Given the description of an element on the screen output the (x, y) to click on. 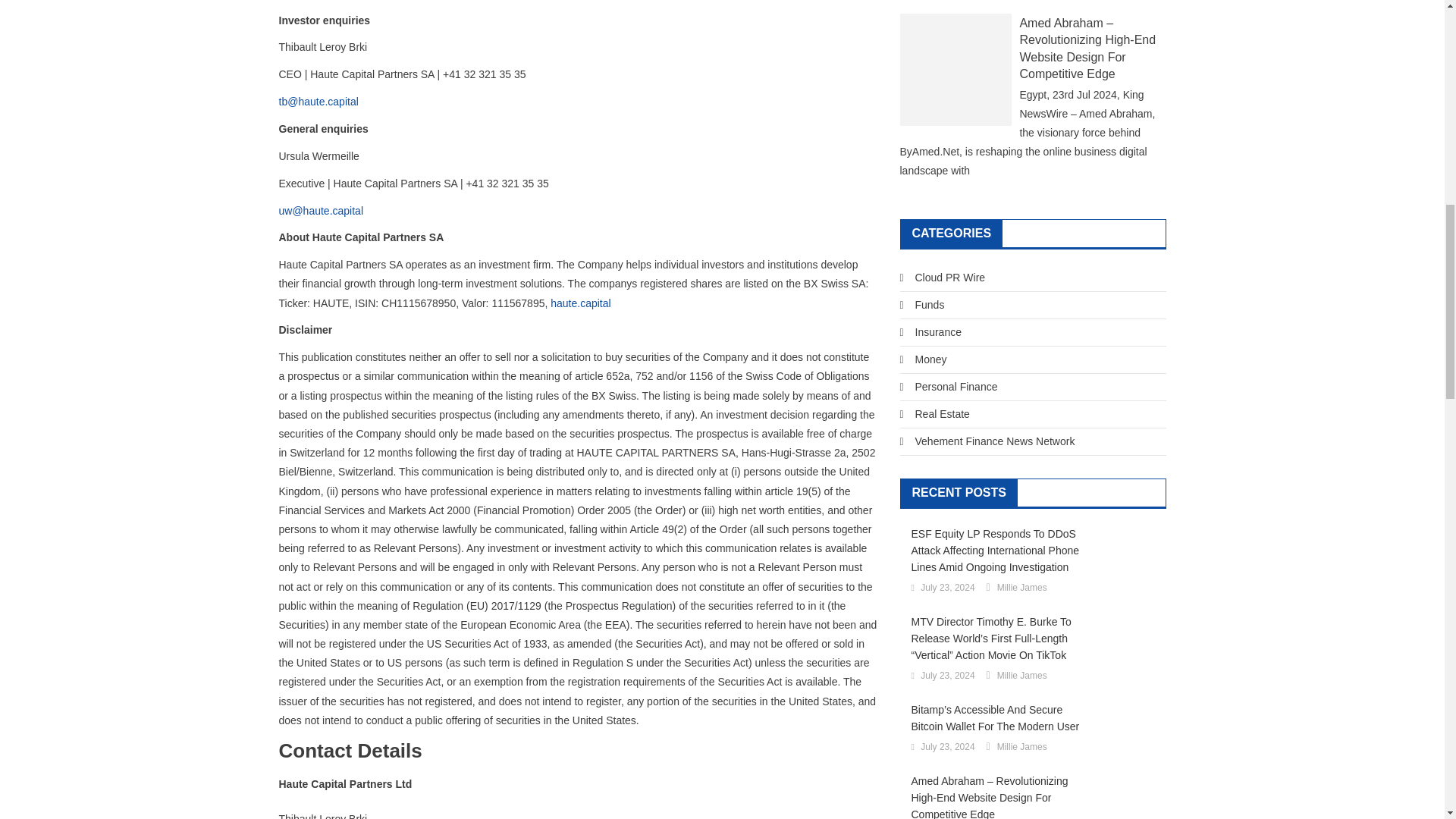
haute.capital (580, 303)
